Given the description of an element on the screen output the (x, y) to click on. 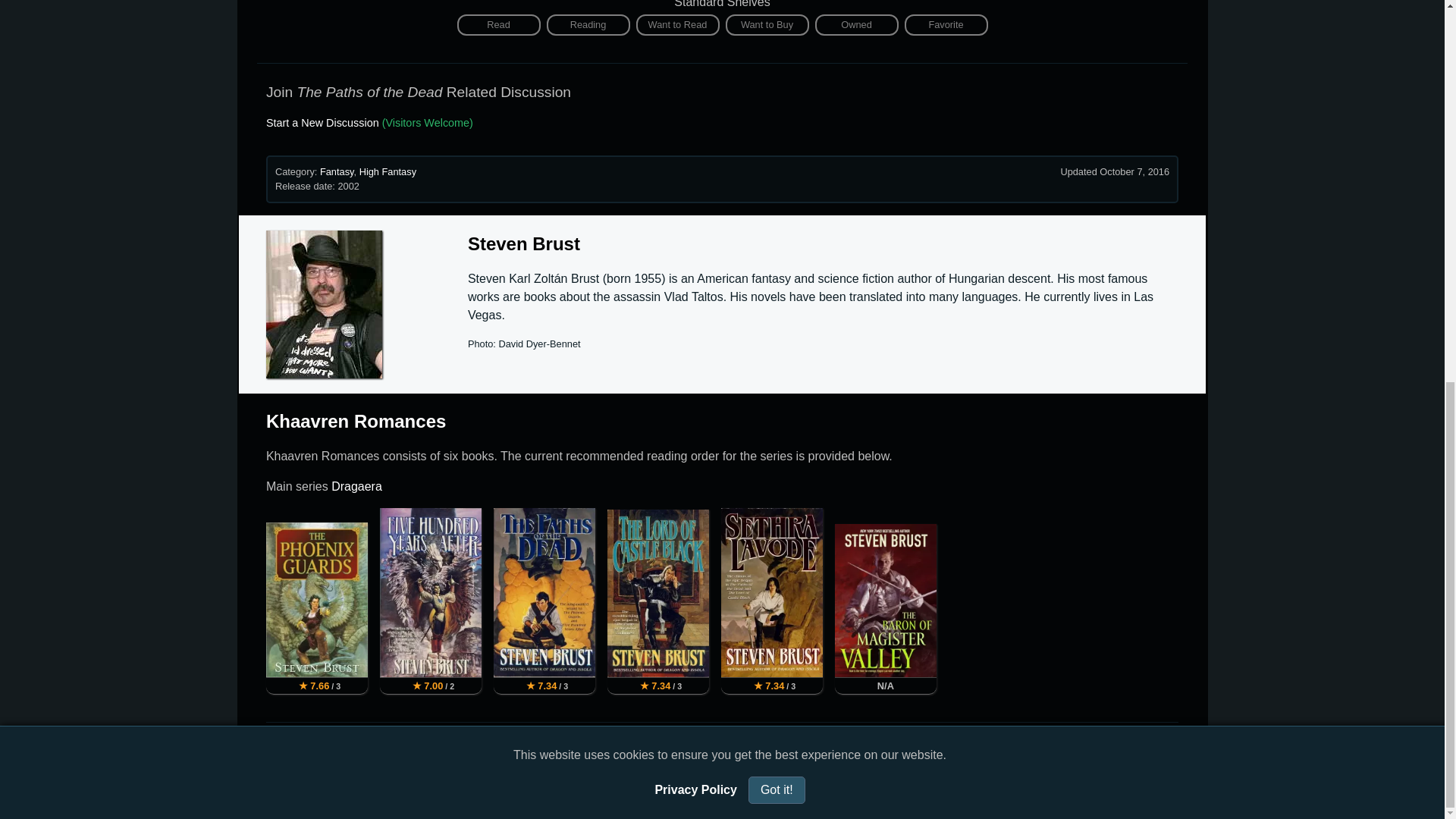
High Fantasy (387, 171)
Want to Buy (766, 25)
Want to Read (676, 25)
Want to Read (676, 25)
Read (498, 25)
Dragaera (356, 486)
Owned (855, 25)
Want to Buy (766, 25)
Khaavren Romances (355, 421)
Read (498, 25)
